Given the description of an element on the screen output the (x, y) to click on. 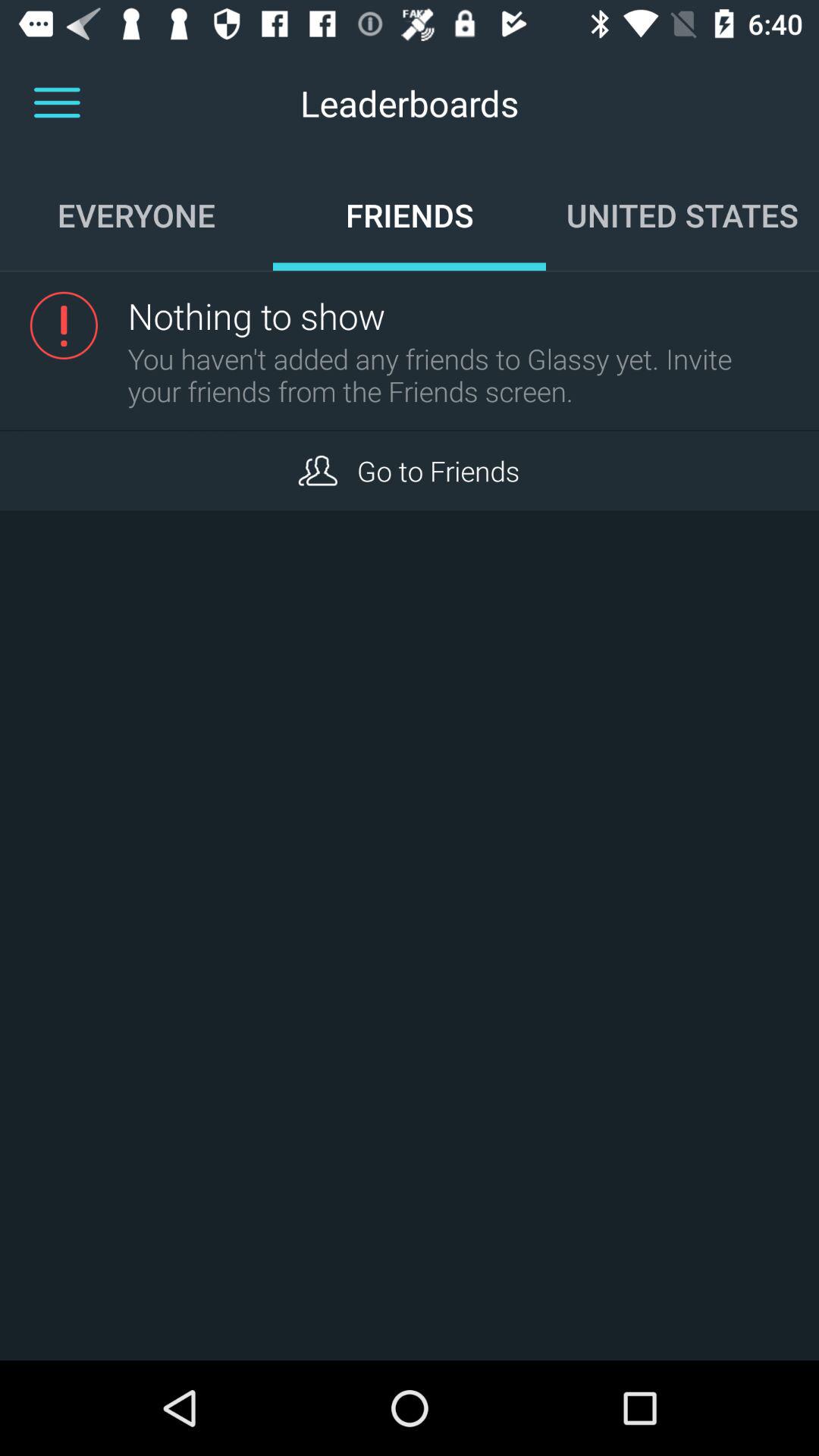
view friends (317, 470)
